Given the description of an element on the screen output the (x, y) to click on. 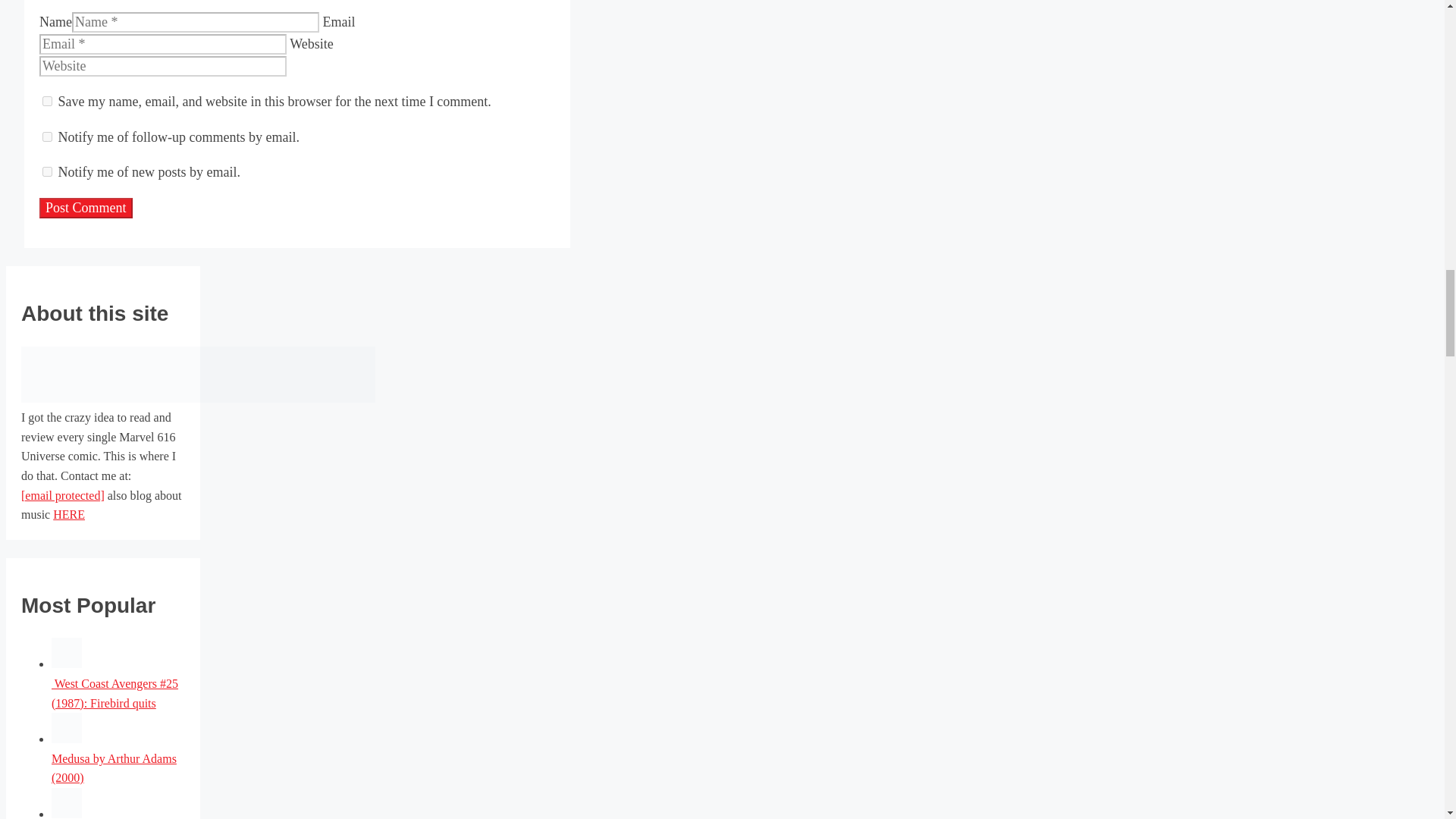
Post Comment (85, 208)
subscribe (47, 136)
subscribe (47, 171)
Post Comment (85, 208)
HERE (68, 513)
yes (47, 101)
